Given the description of an element on the screen output the (x, y) to click on. 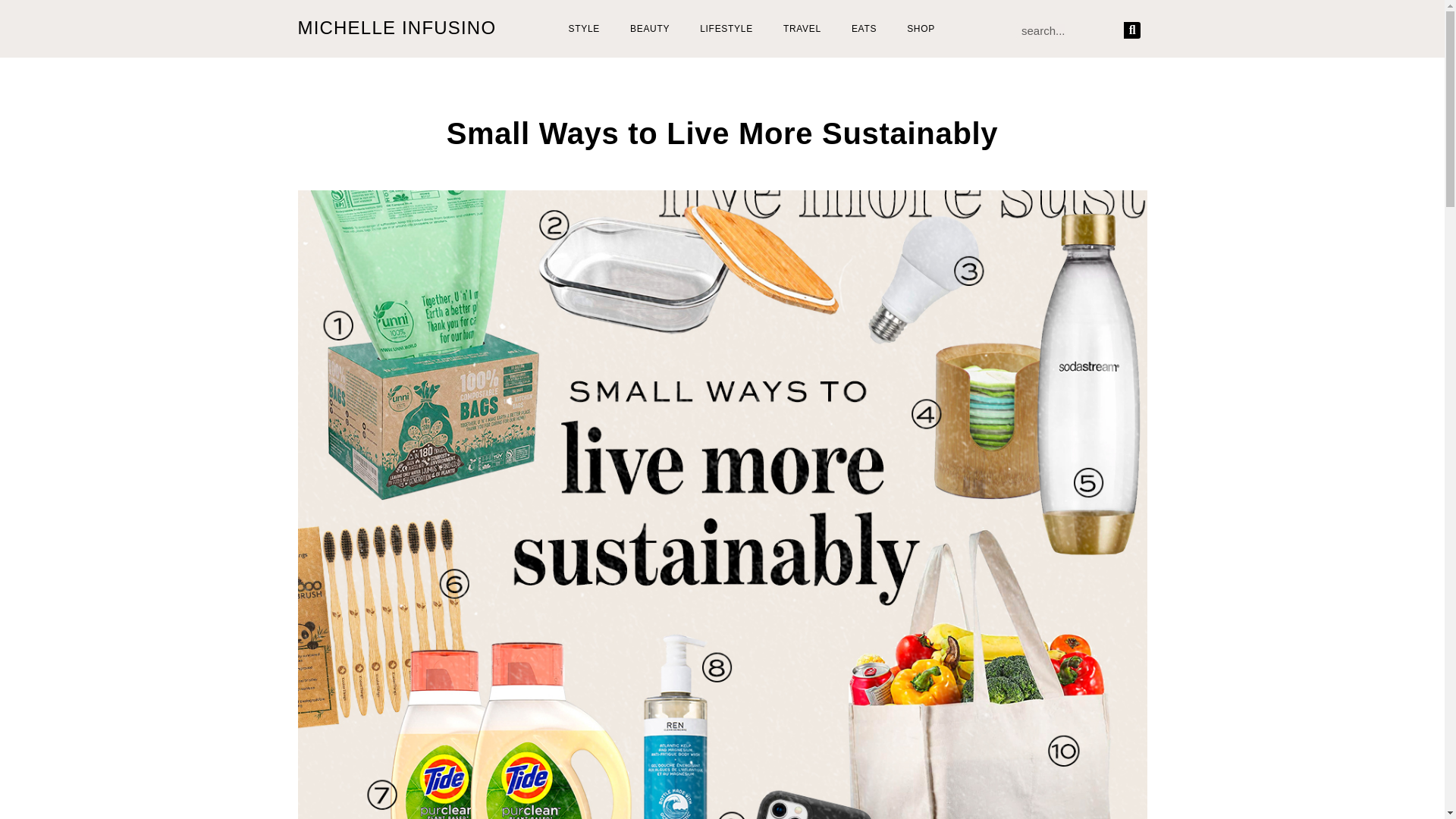
TRAVEL (801, 28)
STYLE (583, 28)
EATS (863, 28)
SHOP (920, 28)
BEAUTY (649, 28)
MICHELLE INFUSINO (396, 27)
LIFESTYLE (726, 28)
